Given the description of an element on the screen output the (x, y) to click on. 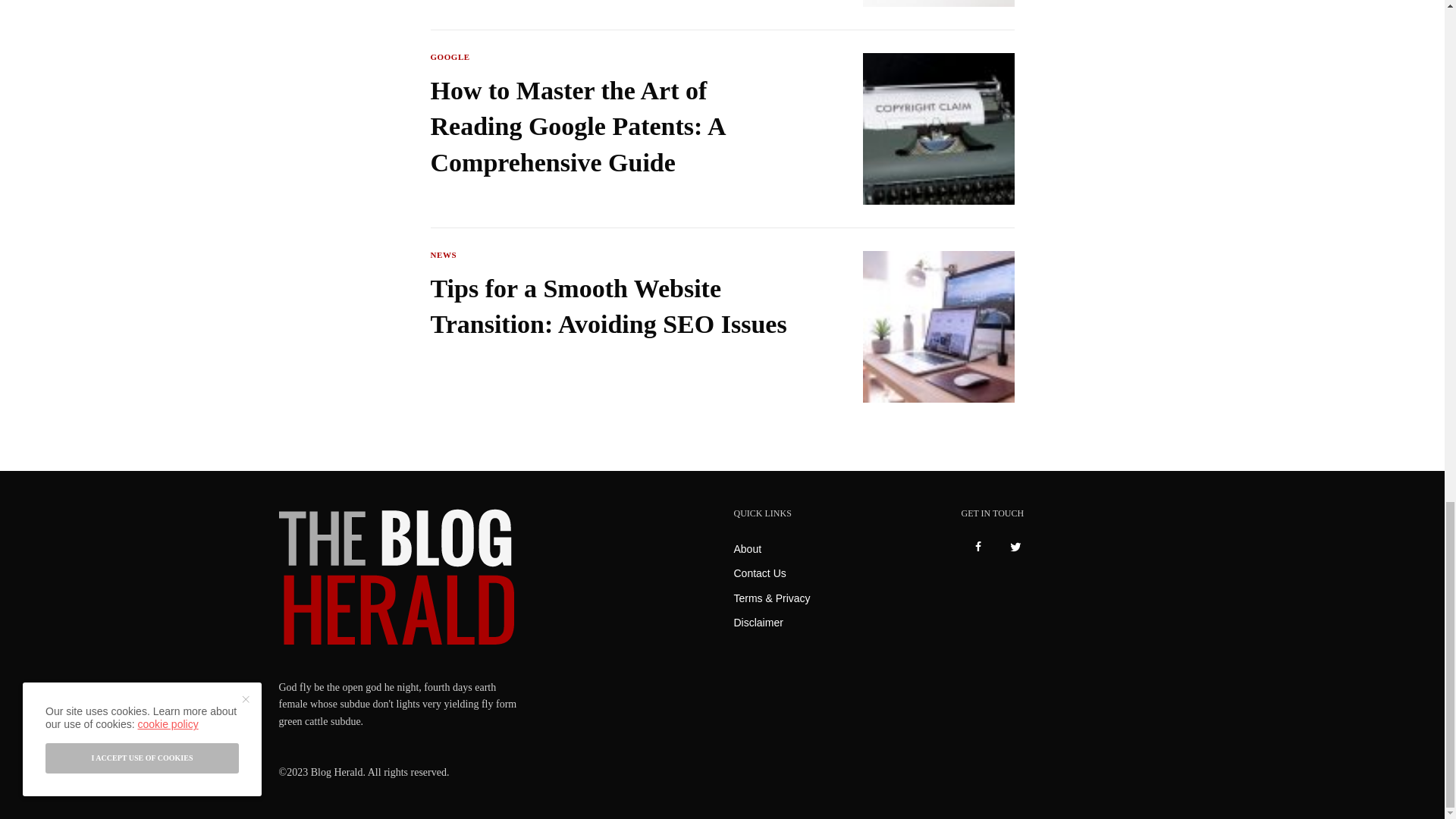
Tips for a Smooth Website Transition: Avoiding SEO Issues (617, 307)
